Given the description of an element on the screen output the (x, y) to click on. 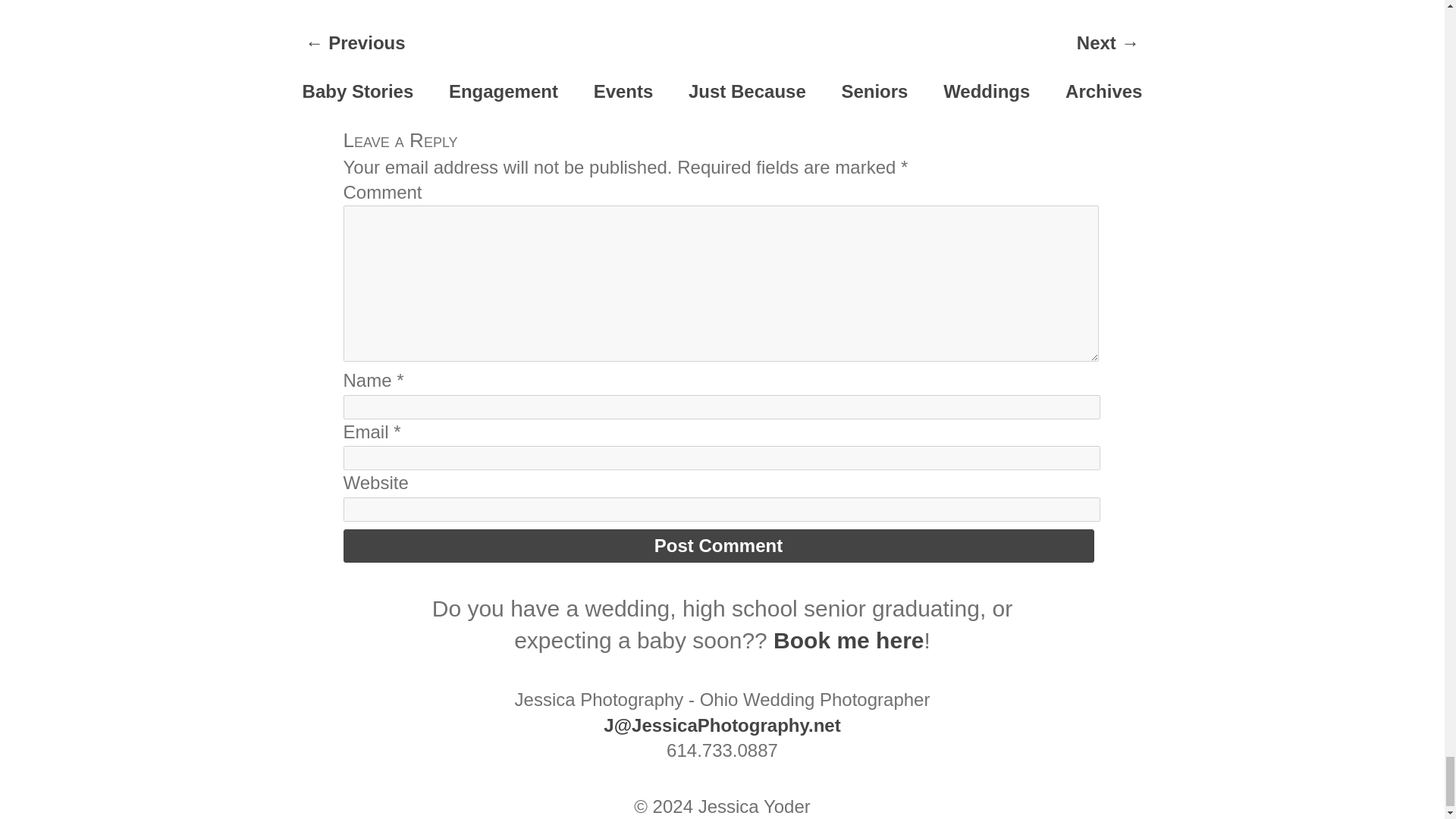
Post Comment (717, 545)
